Given the description of an element on the screen output the (x, y) to click on. 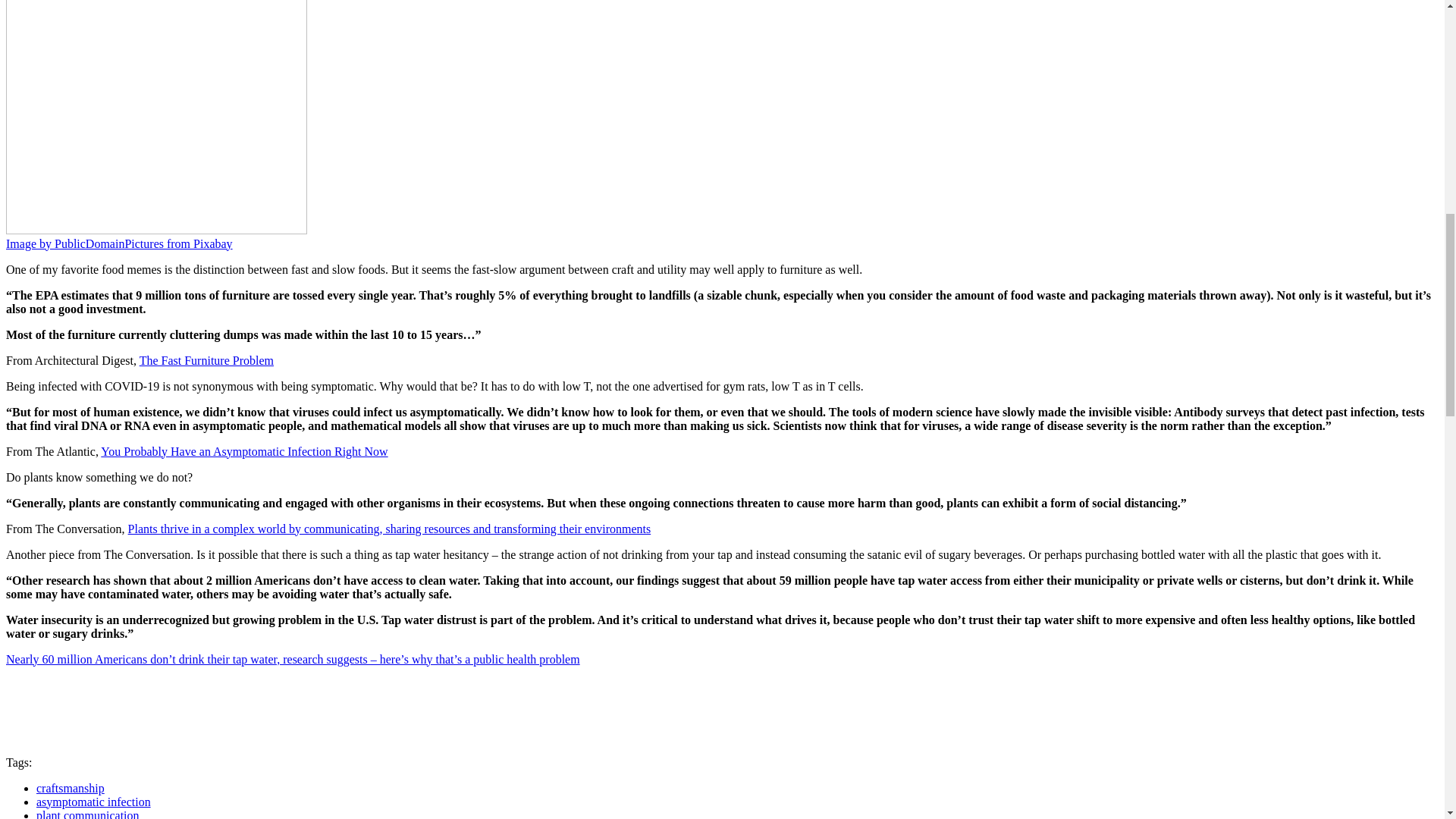
The Fast Furniture Problem (206, 359)
asymptomatic infection (93, 801)
You Probably Have an Asymptomatic Infection Right Now (243, 451)
craftsmanship (70, 788)
Image by PublicDomainPictures from Pixabay (118, 243)
